Given the description of an element on the screen output the (x, y) to click on. 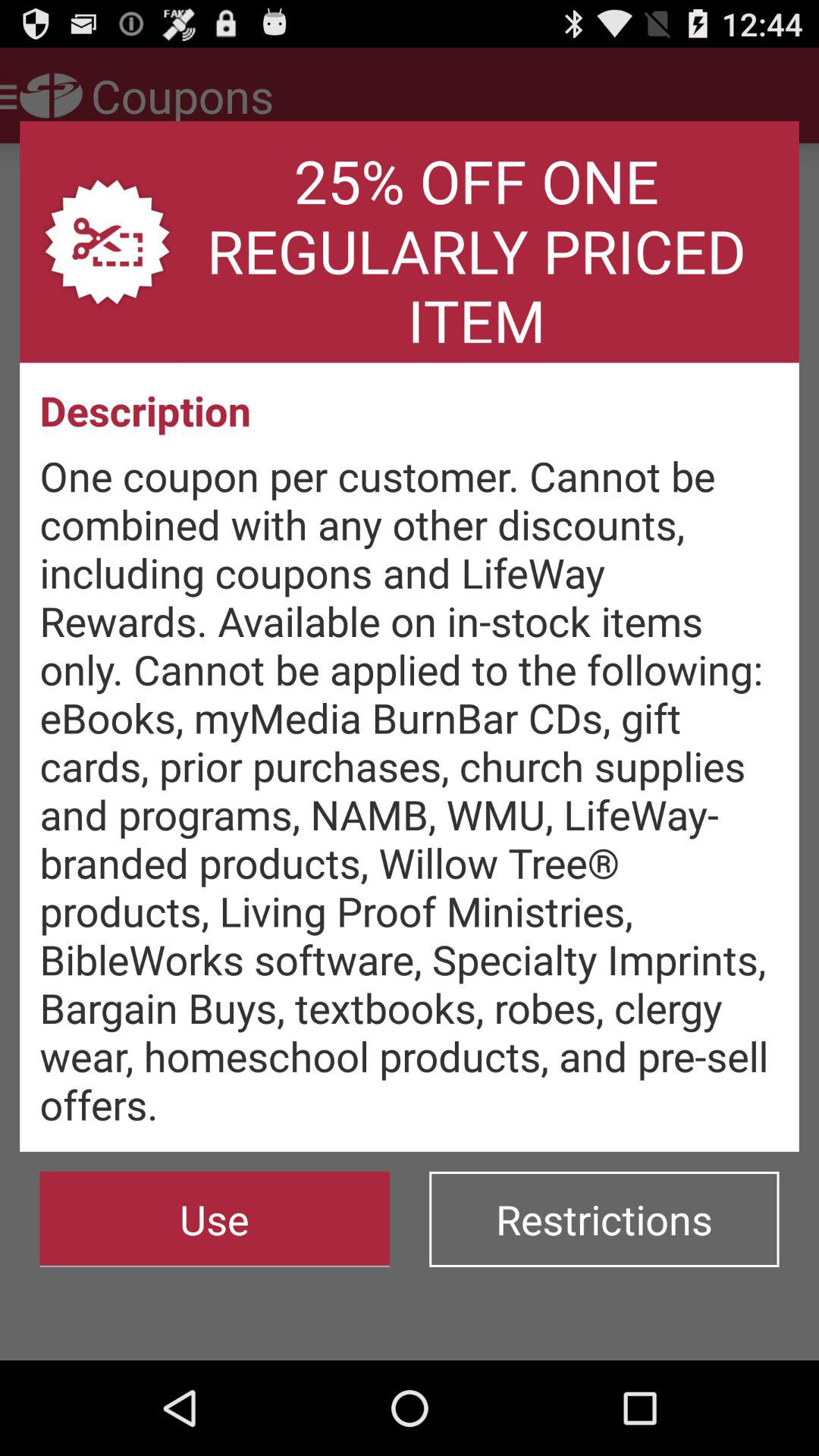
launch the button at the bottom right corner (604, 1219)
